Given the description of an element on the screen output the (x, y) to click on. 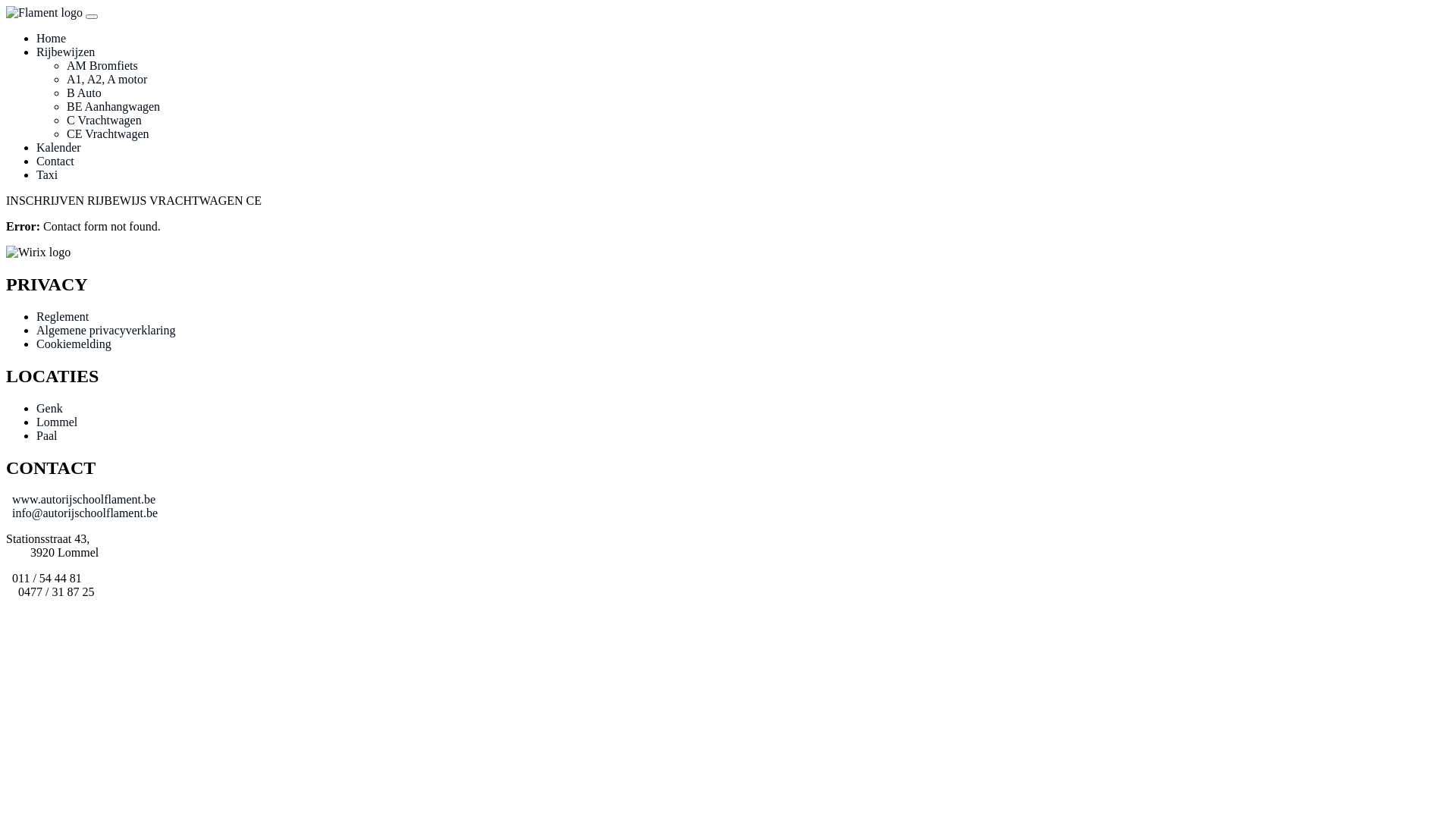
C Vrachtwagen Element type: text (103, 119)
Paal Element type: text (46, 435)
  www.autorijschoolflament.be Element type: text (80, 498)
Algemene privacyverklaring Element type: text (105, 329)
CE Vrachtwagen Element type: text (107, 133)
  info@autorijschoolflament.be Element type: text (81, 512)
Rijbewijzen Element type: text (65, 51)
Contact Element type: text (55, 160)
Kalender Element type: text (58, 147)
Cookiemelding Element type: text (73, 343)
Genk Element type: text (49, 407)
Lommel Element type: text (56, 421)
Home Element type: text (50, 37)
BE Aanhangwagen Element type: text (113, 106)
Taxi Element type: text (46, 174)
Reglement Element type: text (62, 316)
AM Bromfiets Element type: text (102, 65)
A1, A2, A motor Element type: text (106, 78)
B Auto Element type: text (83, 92)
